Given the description of an element on the screen output the (x, y) to click on. 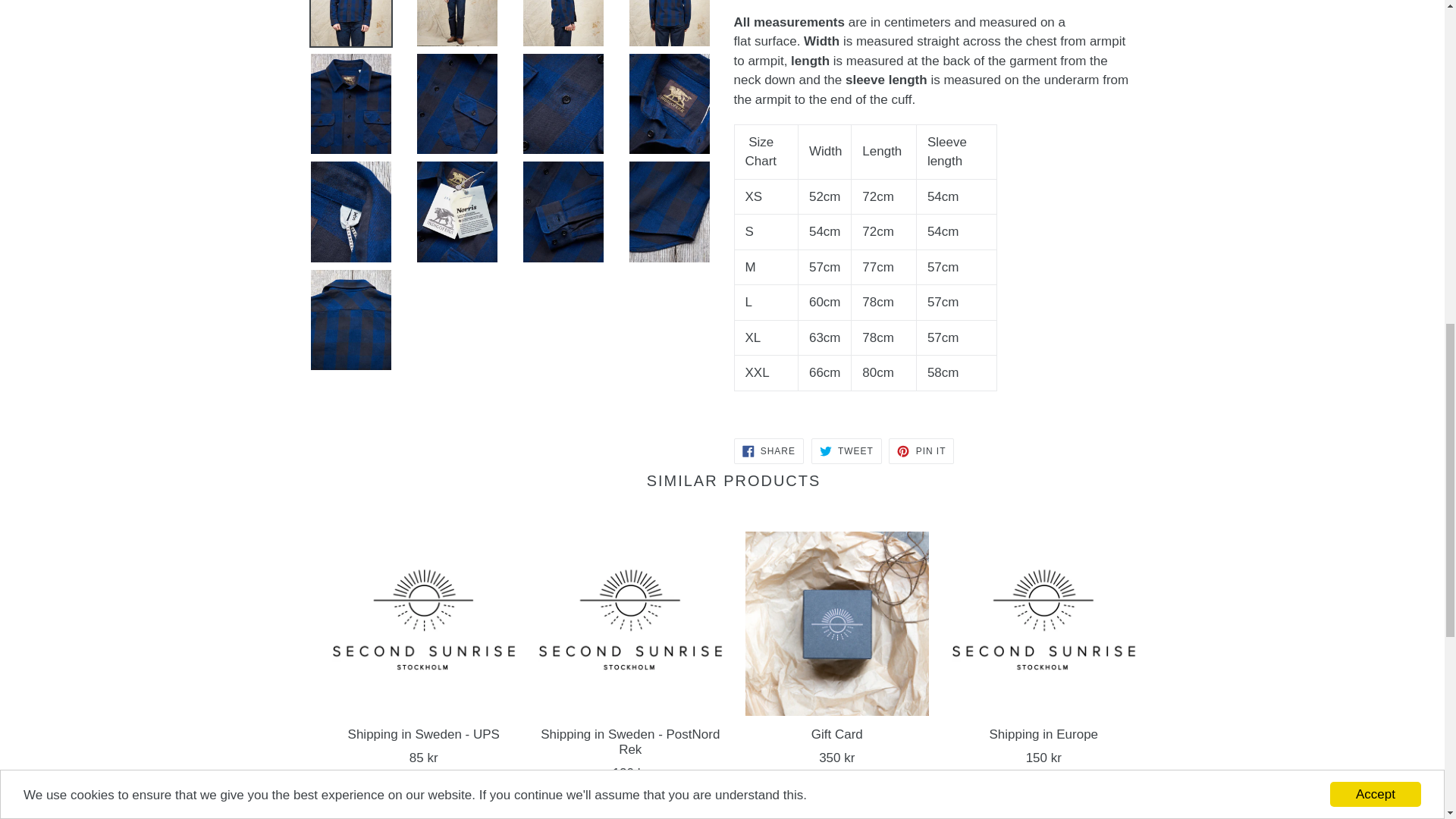
Pin on Pinterest (920, 451)
Tweet on Twitter (846, 451)
Share on Facebook (768, 451)
Accept (1375, 48)
